Given the description of an element on the screen output the (x, y) to click on. 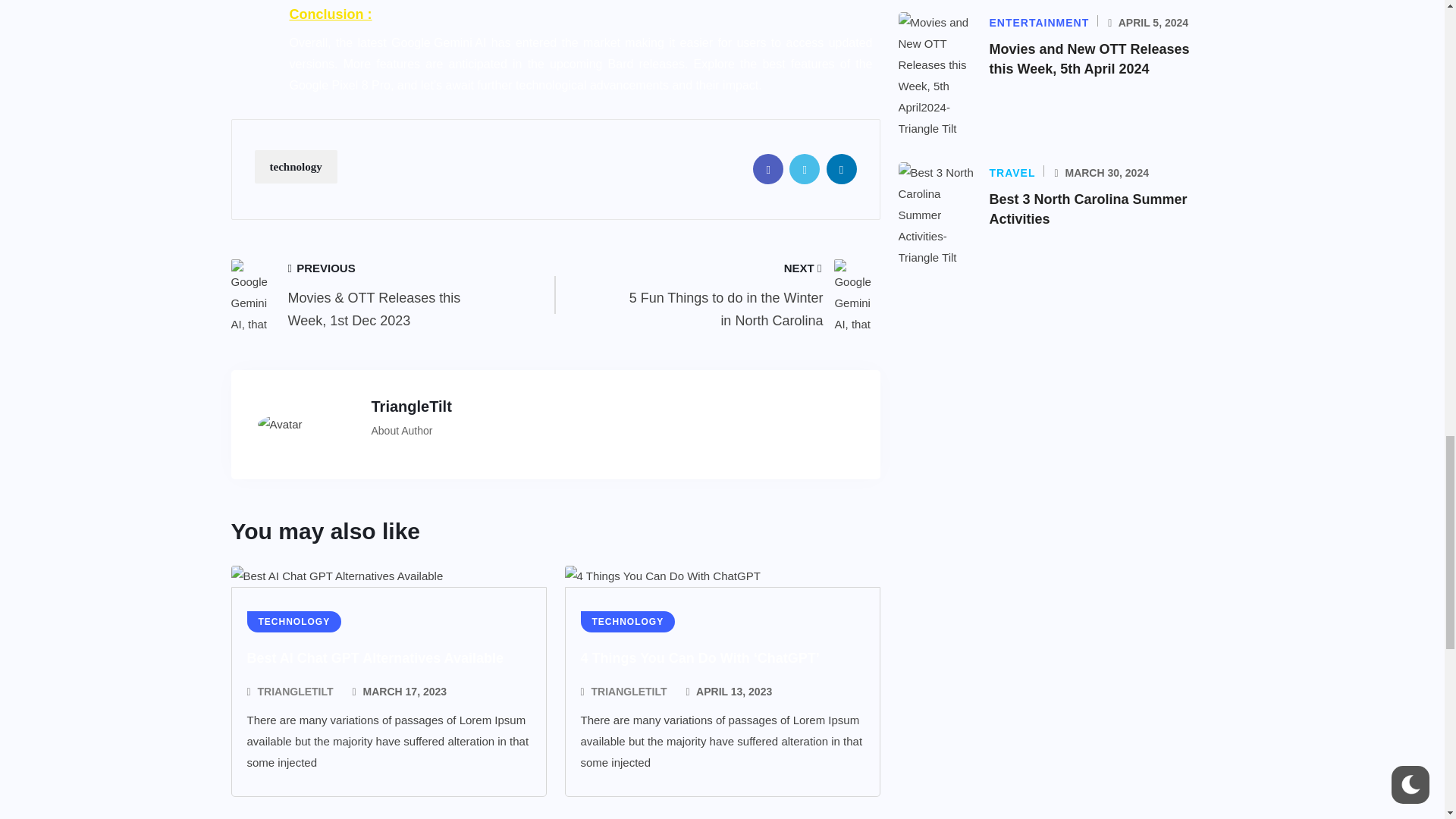
Posts by TriangleTilt (295, 690)
Posts by TriangleTilt (628, 690)
Best 3 North Carolina Summer Activities (1087, 208)
Movies and New OTT Releases this Week, 5th April 2024 (1088, 58)
